Given the description of an element on the screen output the (x, y) to click on. 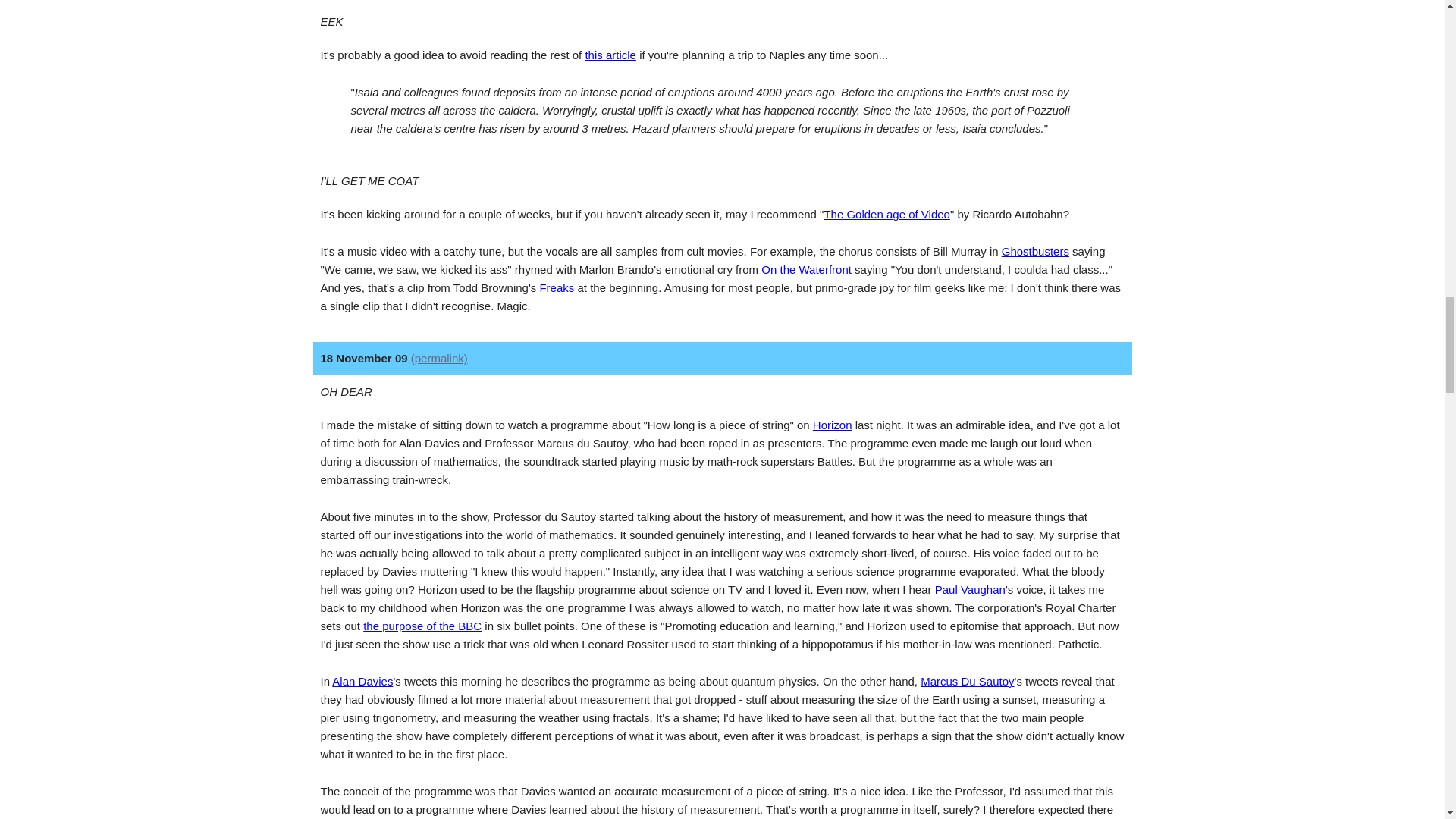
this article (610, 54)
Ghostbusters (1034, 250)
On the Waterfront (806, 269)
Horizon (831, 424)
Alan Davies (362, 680)
the purpose of the BBC (421, 625)
Freaks (555, 287)
Paul Vaughan (970, 589)
The Golden age of Video (887, 214)
